Given the description of an element on the screen output the (x, y) to click on. 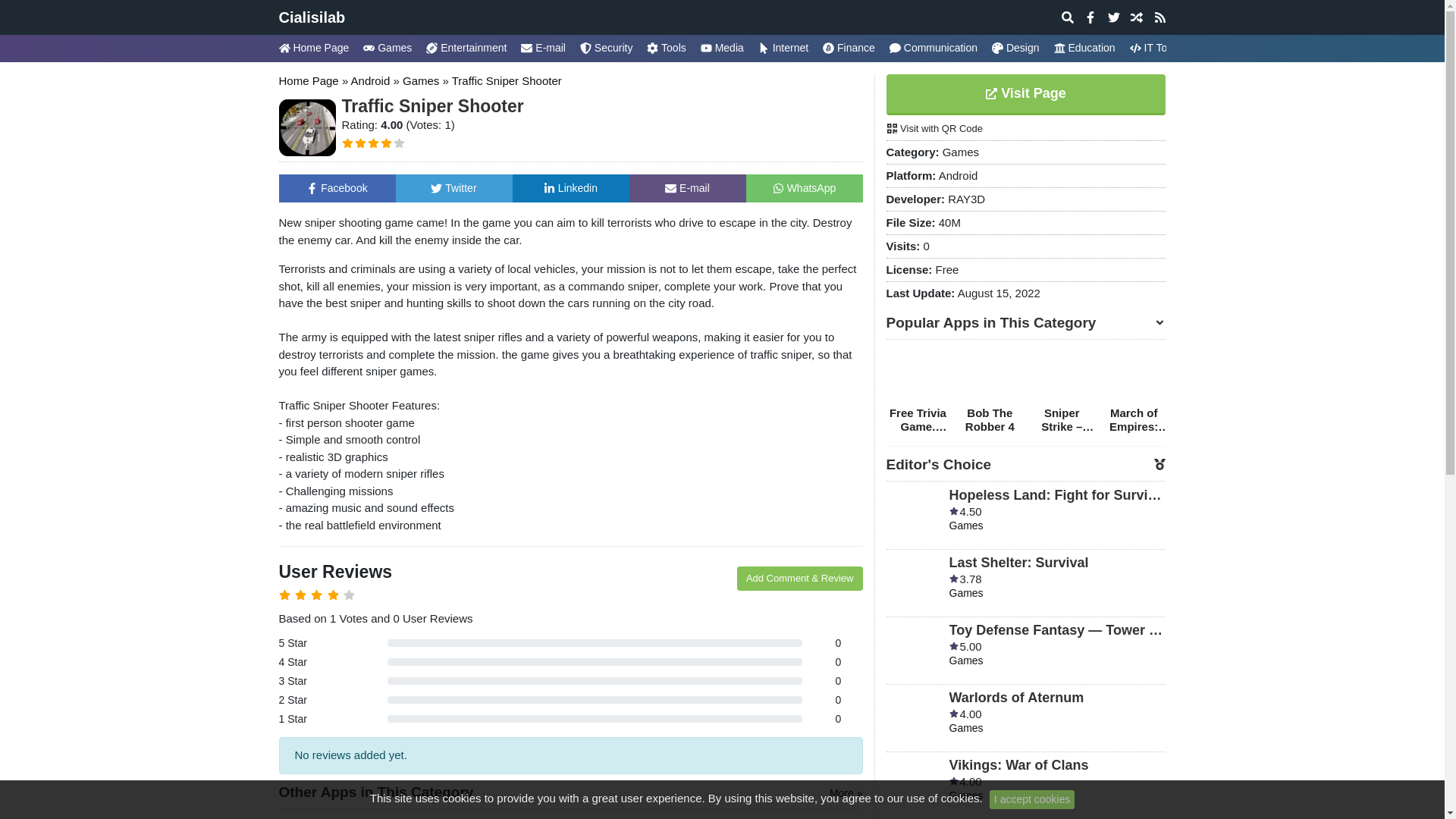
Home Page (317, 48)
Traffic Sniper Shooter (506, 80)
Cialisilab (312, 17)
Finance (848, 48)
2 (360, 143)
E-mail (687, 187)
4 (385, 143)
Games (421, 80)
1 (346, 143)
Games (386, 48)
Education (1084, 48)
Linkedin (569, 187)
Security (606, 48)
Tools (665, 48)
